Given the description of an element on the screen output the (x, y) to click on. 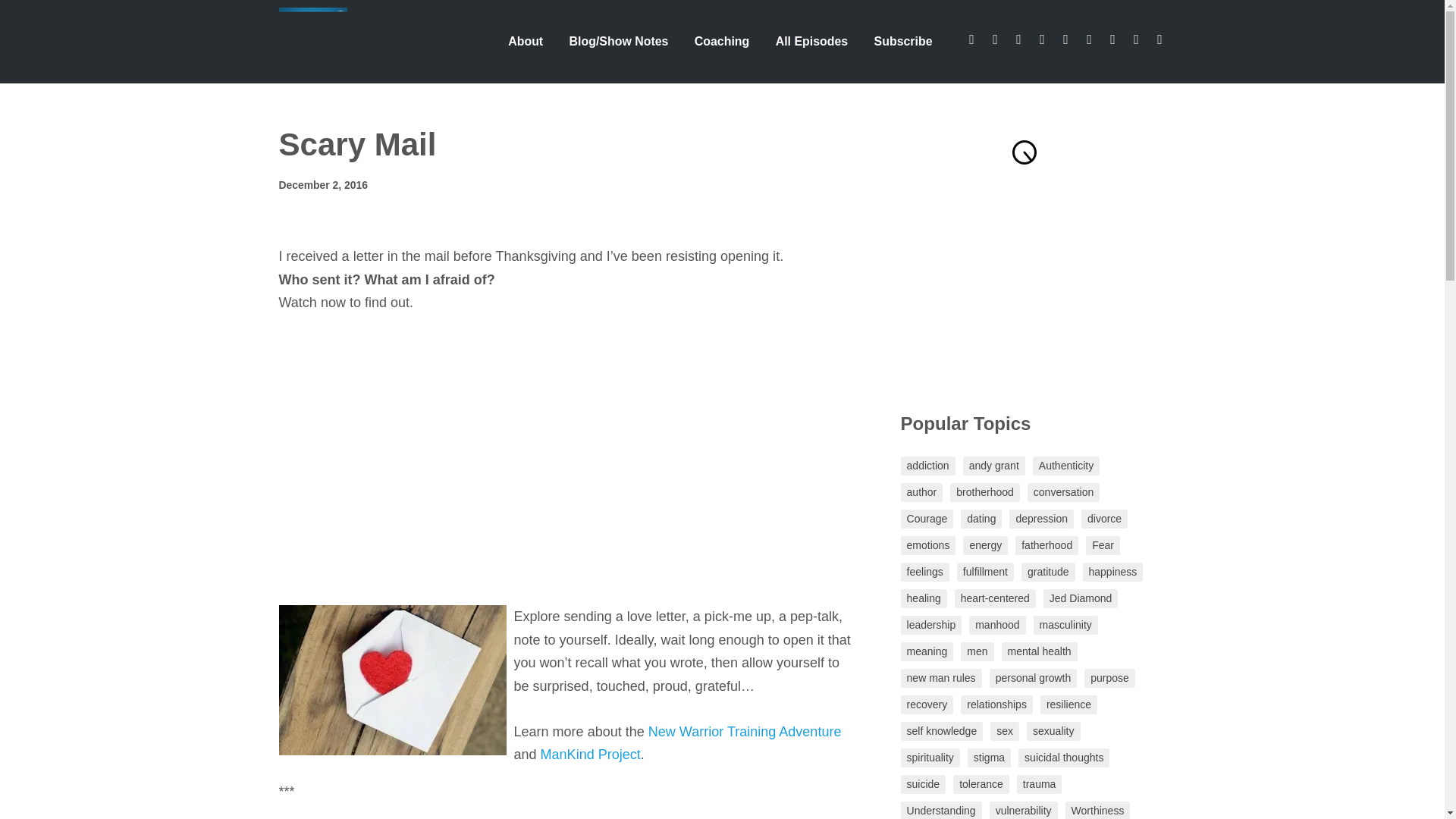
All Episodes (811, 41)
Subscribe (903, 41)
Coaching (721, 41)
New Warrior Training Adventure (744, 731)
ManKind Project (590, 754)
